Given the description of an element on the screen output the (x, y) to click on. 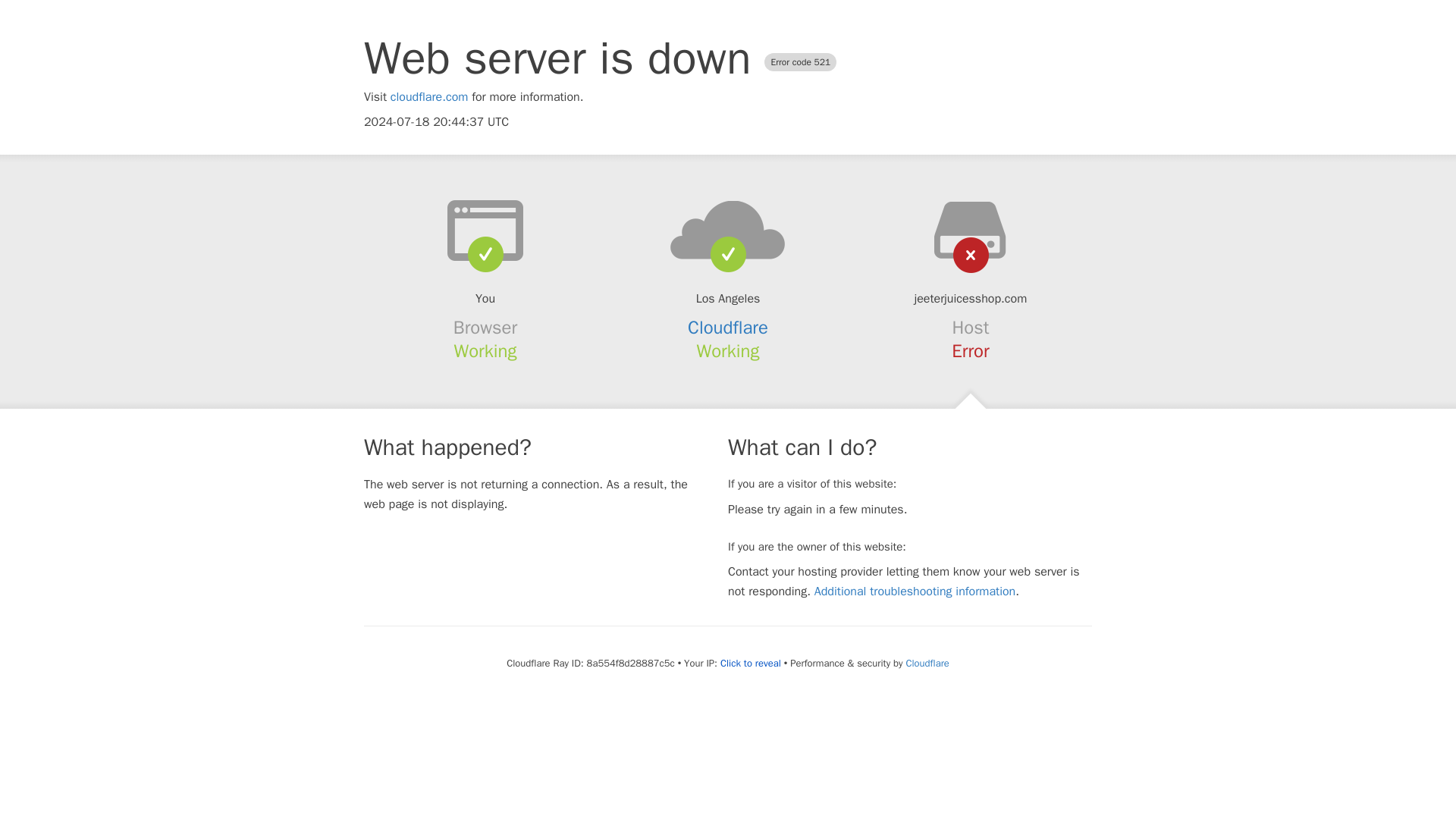
Cloudflare (727, 327)
cloudflare.com (429, 96)
Click to reveal (750, 663)
Additional troubleshooting information (913, 590)
Cloudflare (927, 662)
